Given the description of an element on the screen output the (x, y) to click on. 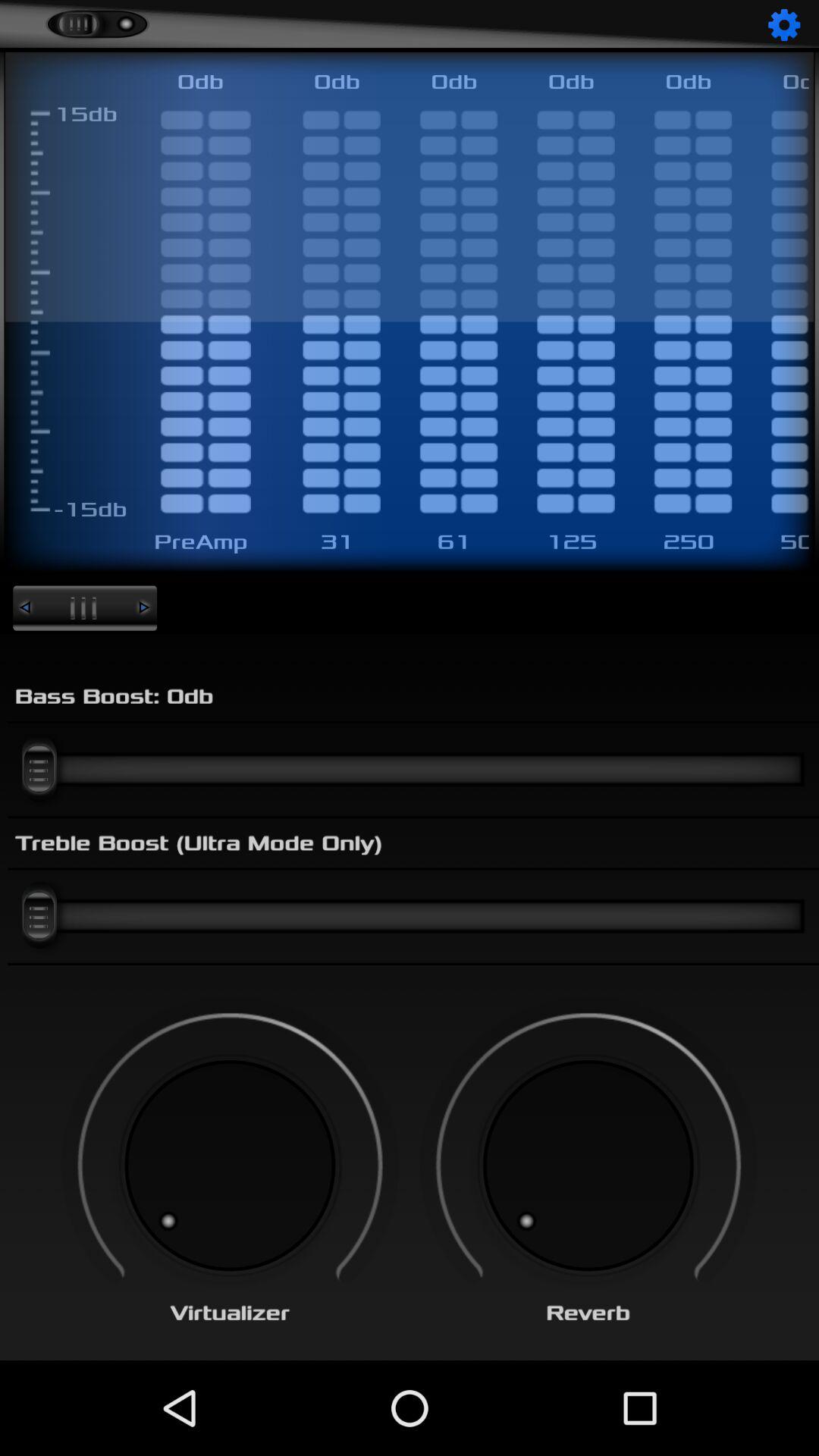
change virtualizer option (229, 1165)
